Given the description of an element on the screen output the (x, y) to click on. 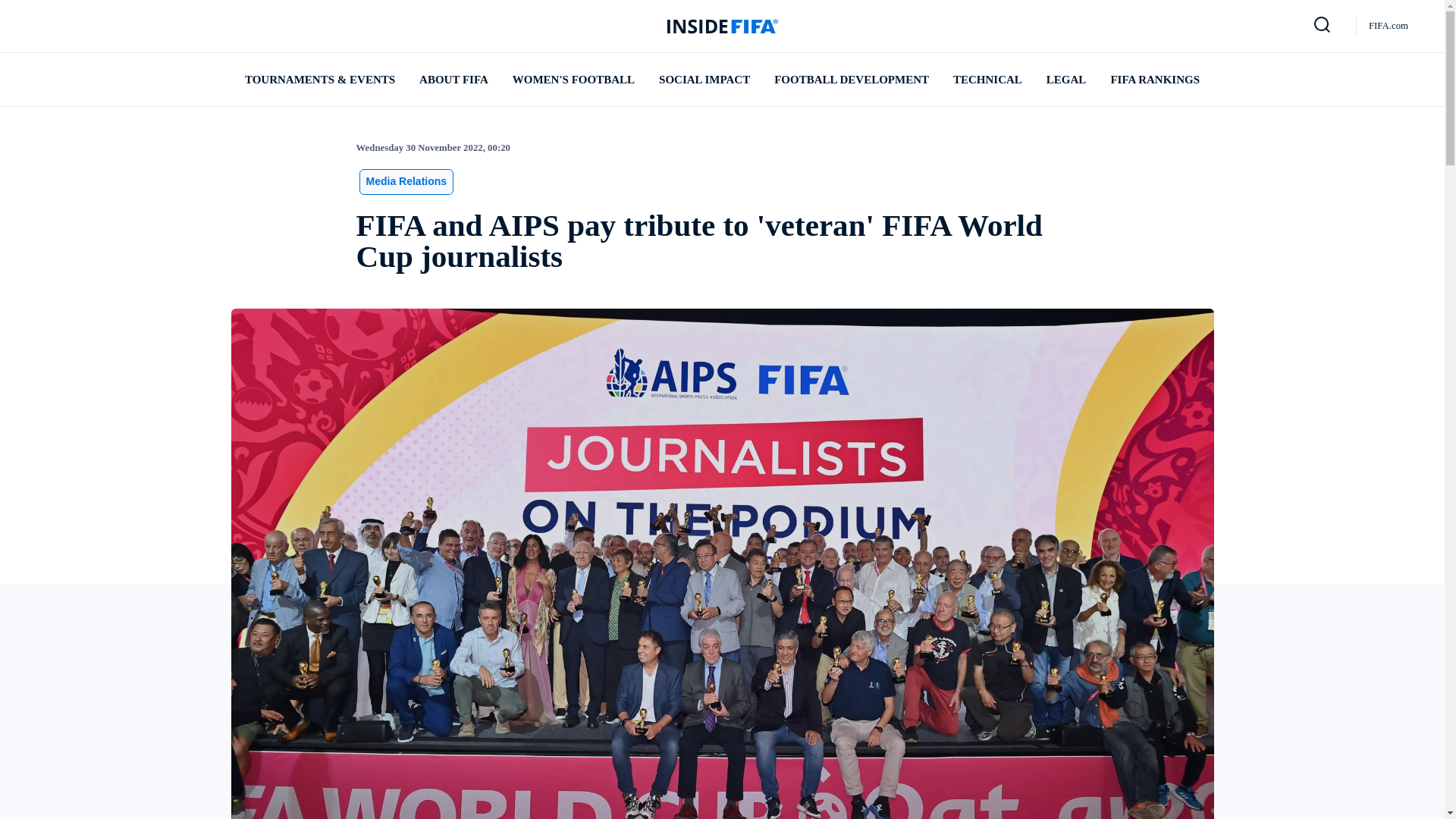
ABOUT FIFA (453, 79)
FIFA.com (1388, 25)
